Given the description of an element on the screen output the (x, y) to click on. 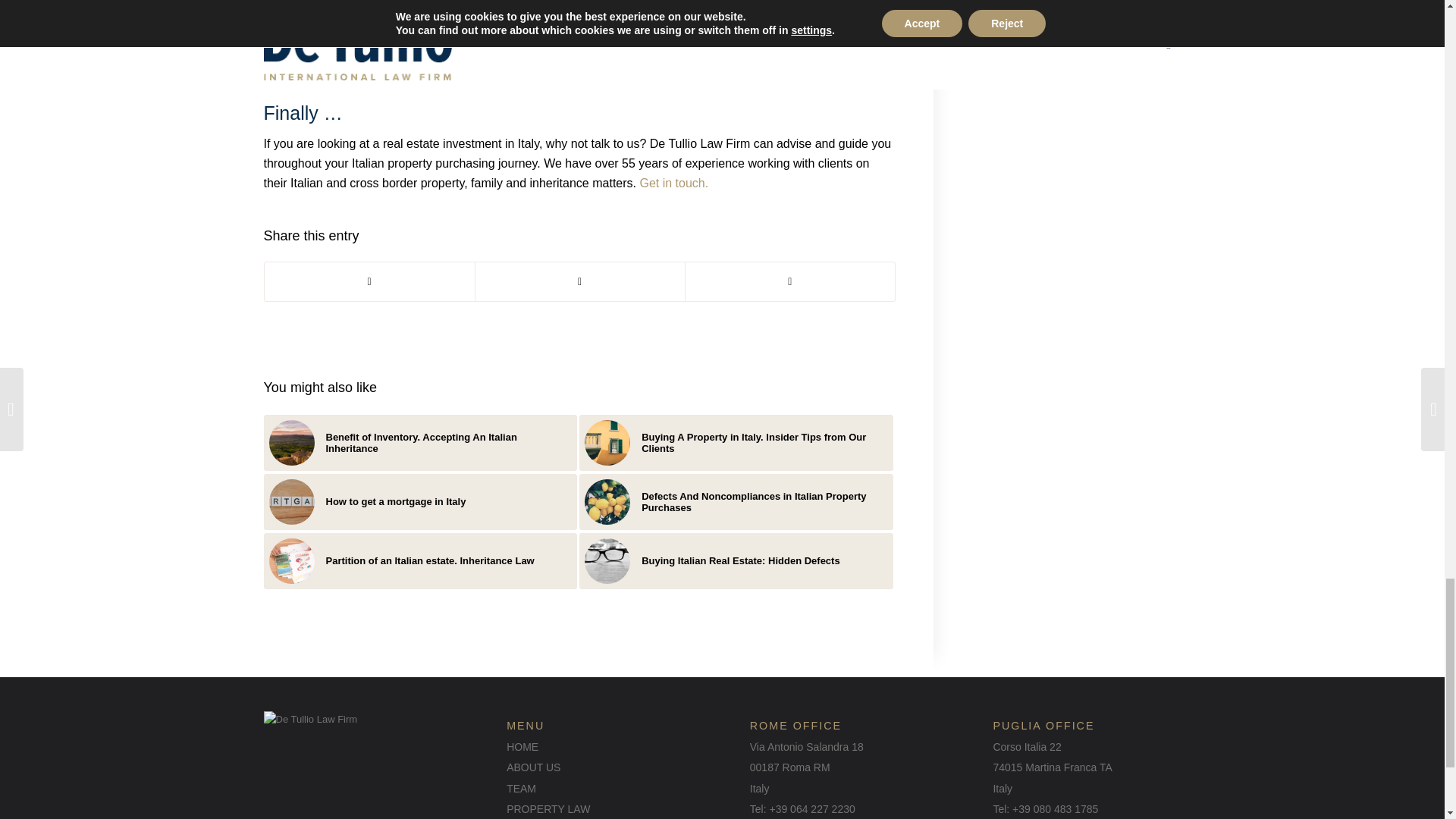
Buying A Property in Italy. Insider Tips from Our Clients (736, 442)
205CE062-E19F-47D1-8917-9BB5DAF48E28 (290, 443)
Defects And Noncompliances in Italian Property Purchases (736, 501)
mortgage (290, 501)
reciprocity (607, 443)
Buying A Property in Italy. Insider Tips from Our Clients (736, 442)
HOME (522, 746)
Buying Italian Real Estate: Hidden Defects (736, 560)
Defects And Noncompliances in Italian Property Purchases (736, 501)
How to get a mortgage in Italy (420, 501)
